Given the description of an element on the screen output the (x, y) to click on. 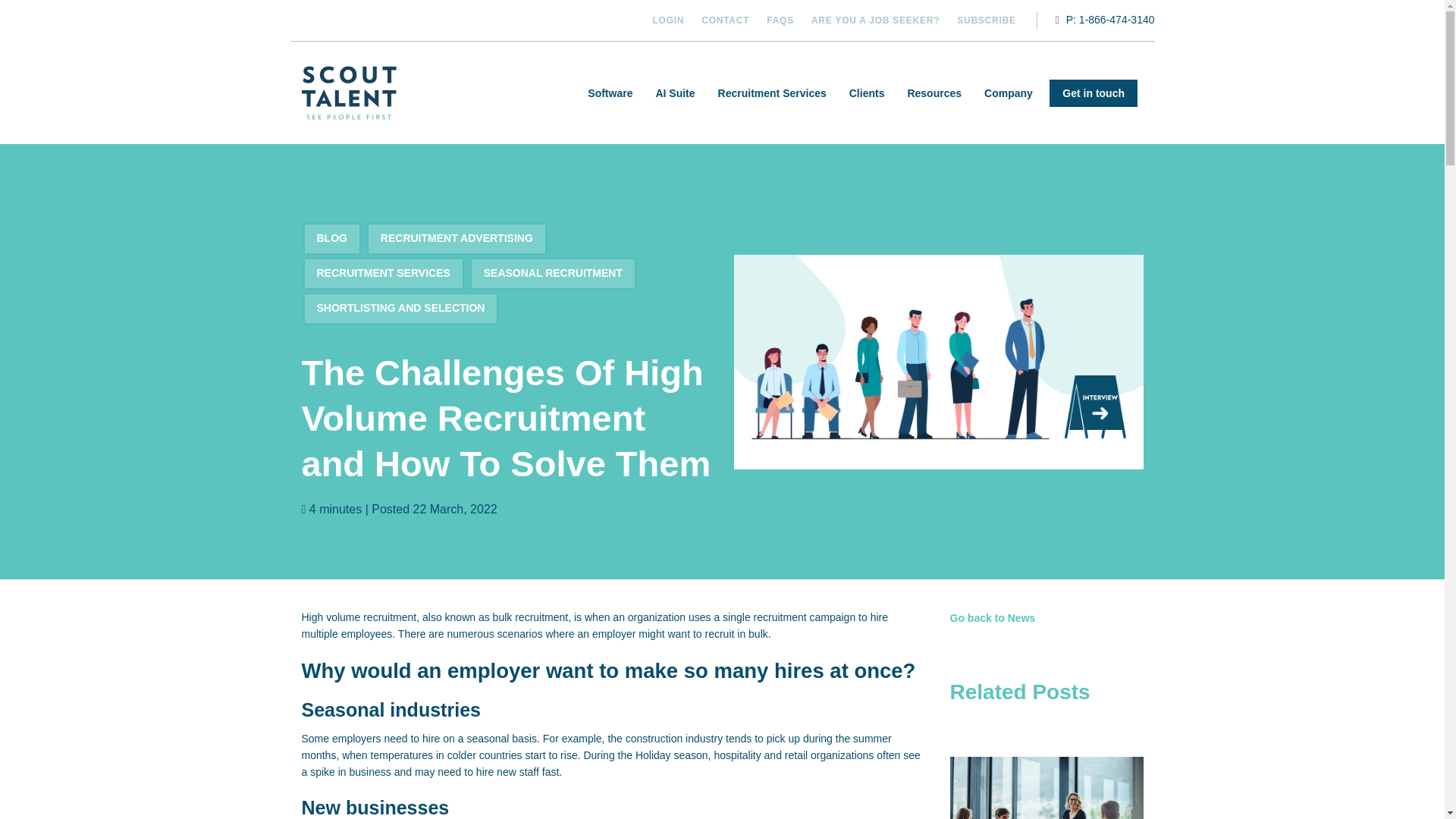
CONTACT (725, 20)
Scout Talent Canada (348, 92)
LOGIN (668, 20)
FAQS (779, 20)
ARE YOU A JOB SEEKER? (875, 20)
